Given the description of an element on the screen output the (x, y) to click on. 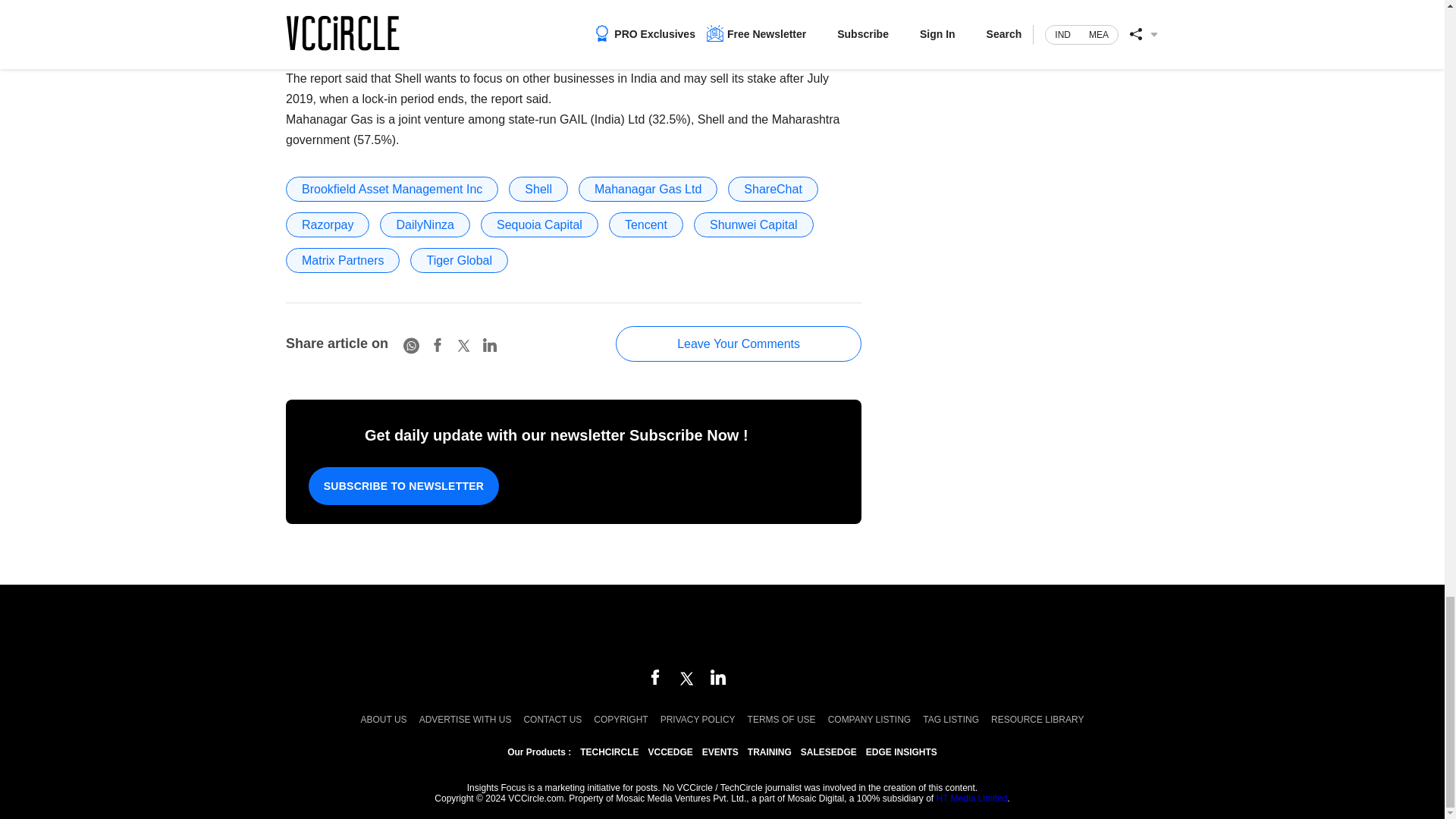
Sequoia Capital (539, 224)
Shell (537, 188)
ShareChat (773, 188)
Mosaic Digital (721, 628)
Mahanagar Gas Ltd (647, 188)
Tencent (645, 224)
Brookfield Asset Management Inc (391, 188)
DailyNinza (424, 224)
Razorpay (327, 224)
